Given the description of an element on the screen output the (x, y) to click on. 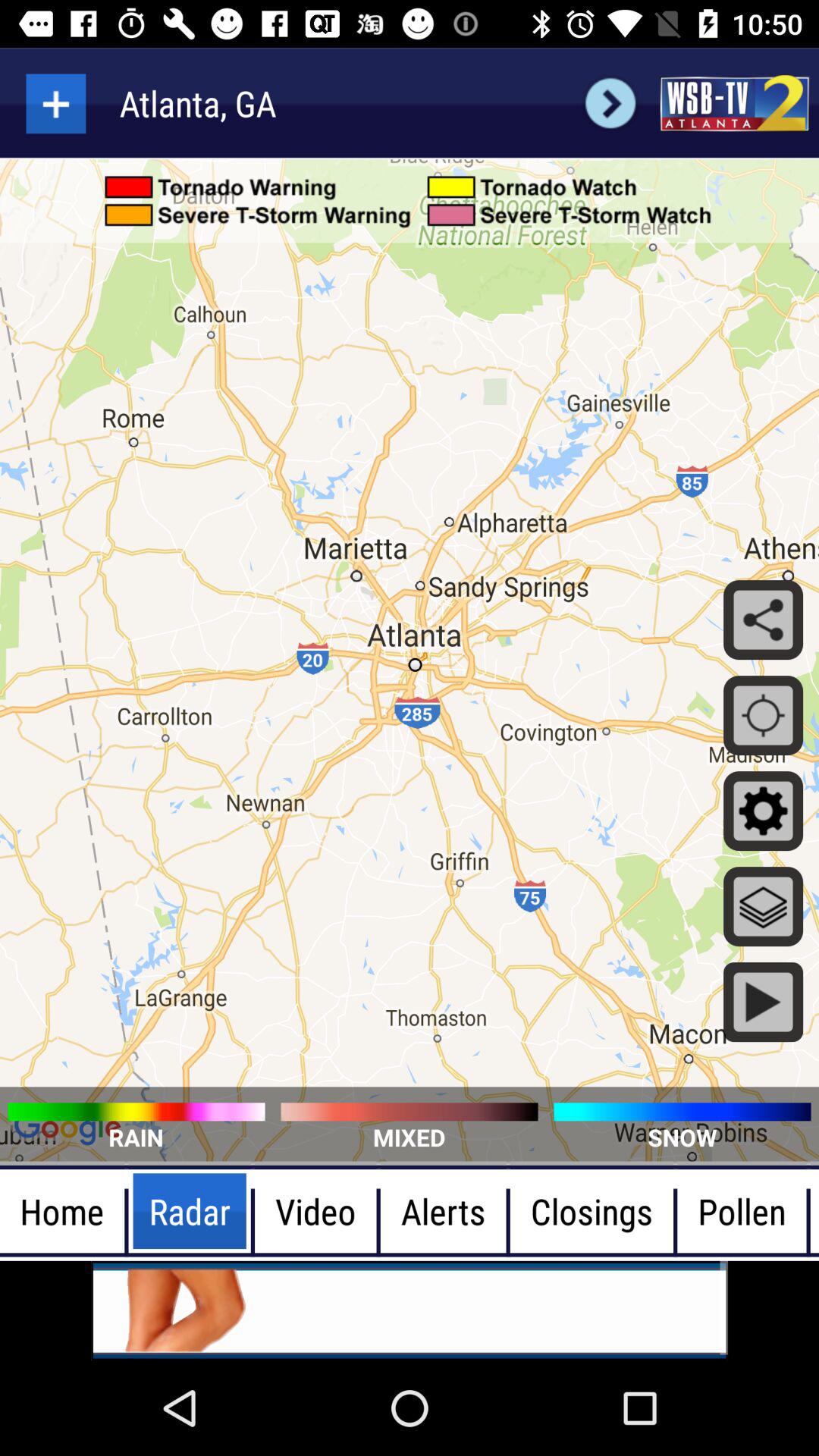
go back button option (610, 103)
